Given the description of an element on the screen output the (x, y) to click on. 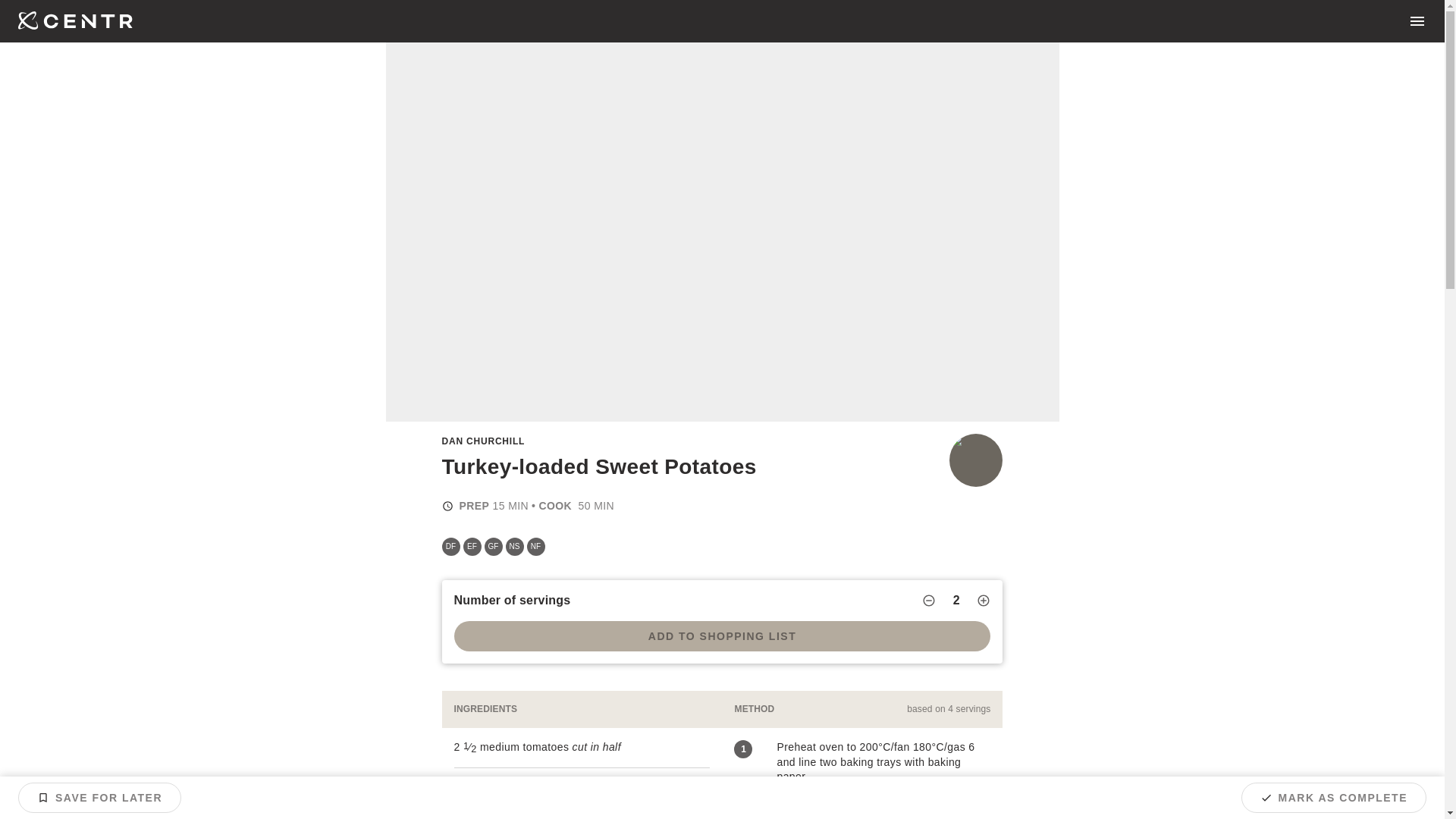
MARK AS COMPLETE (1333, 797)
SAVE FOR LATER (98, 797)
ADD TO SHOPPING LIST (721, 635)
increment button (983, 600)
decrement button (928, 600)
